Given the description of an element on the screen output the (x, y) to click on. 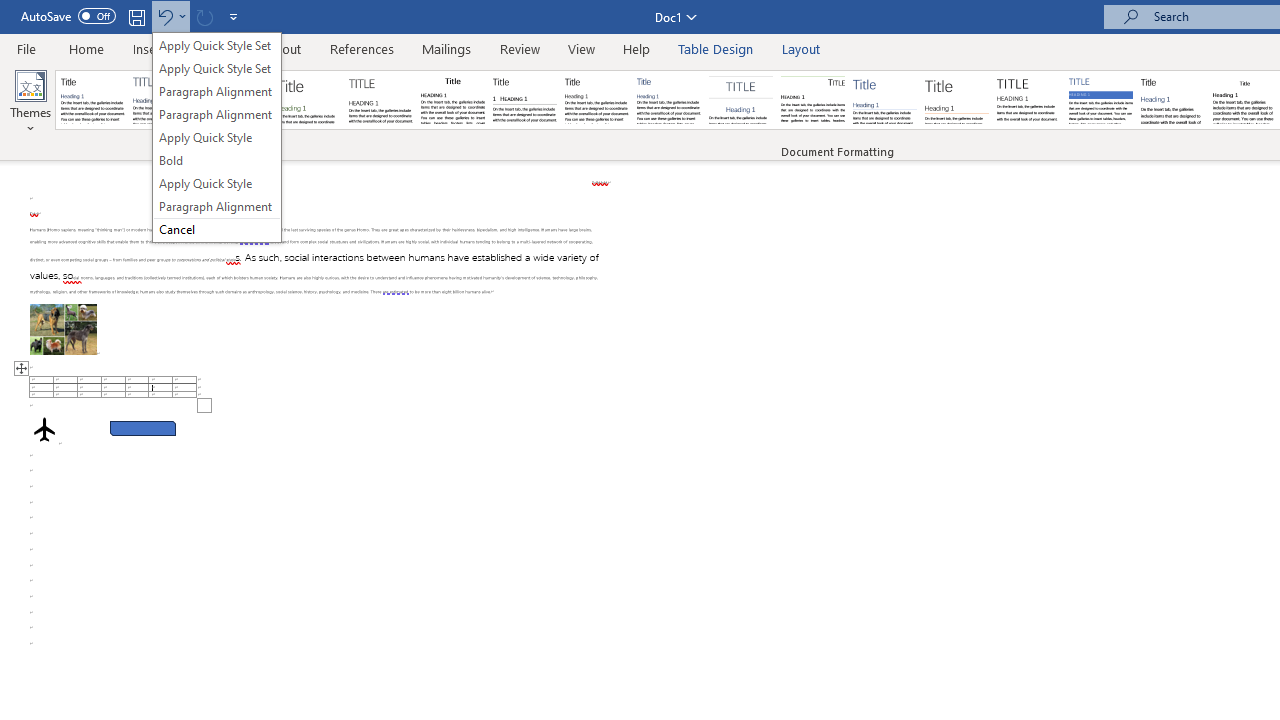
Shaded (1100, 100)
&Undo Apply Quick Style Set (216, 137)
Centered (740, 100)
Lines (Distinctive) (812, 100)
Casual (669, 100)
